Given the description of an element on the screen output the (x, y) to click on. 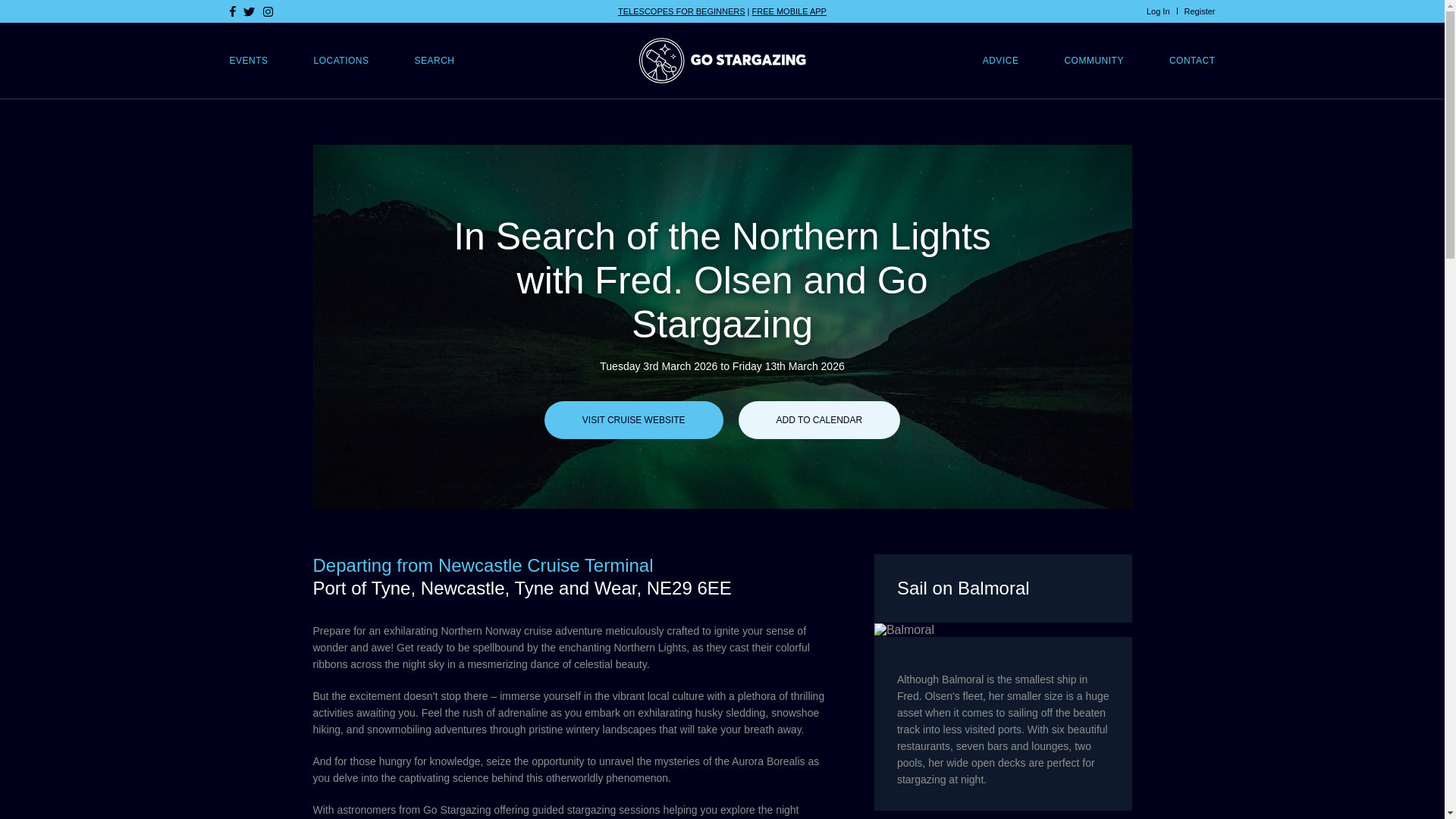
TELESCOPES FOR BEGINNERS (680, 11)
Log In (1158, 10)
Register (1200, 10)
FREE MOBILE APP (789, 11)
Twitter (248, 10)
Instagram (267, 10)
